Given the description of an element on the screen output the (x, y) to click on. 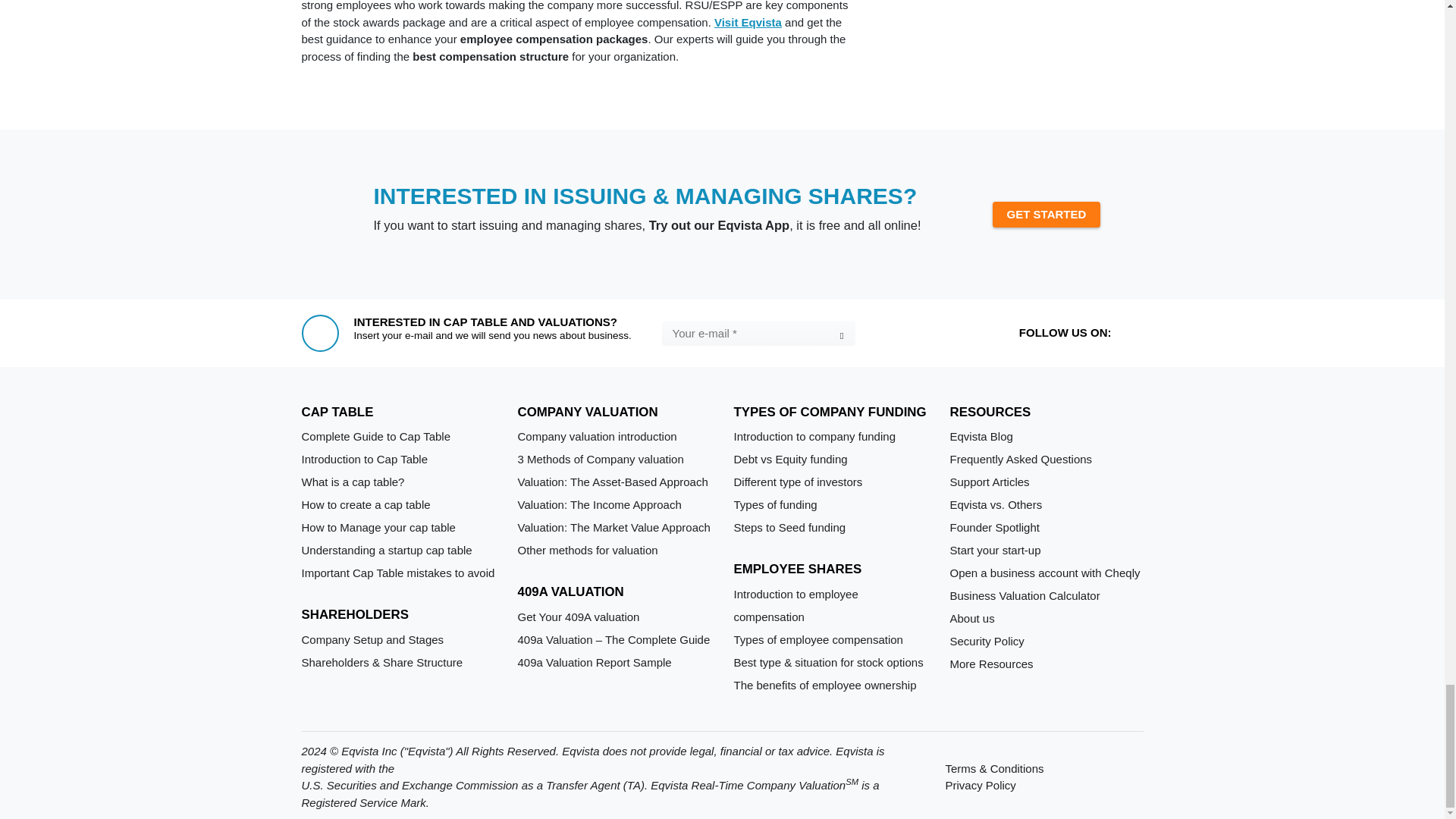
Subscribe! (839, 335)
Visit Eqvista (747, 21)
Your e-mail (757, 333)
